Given the description of an element on the screen output the (x, y) to click on. 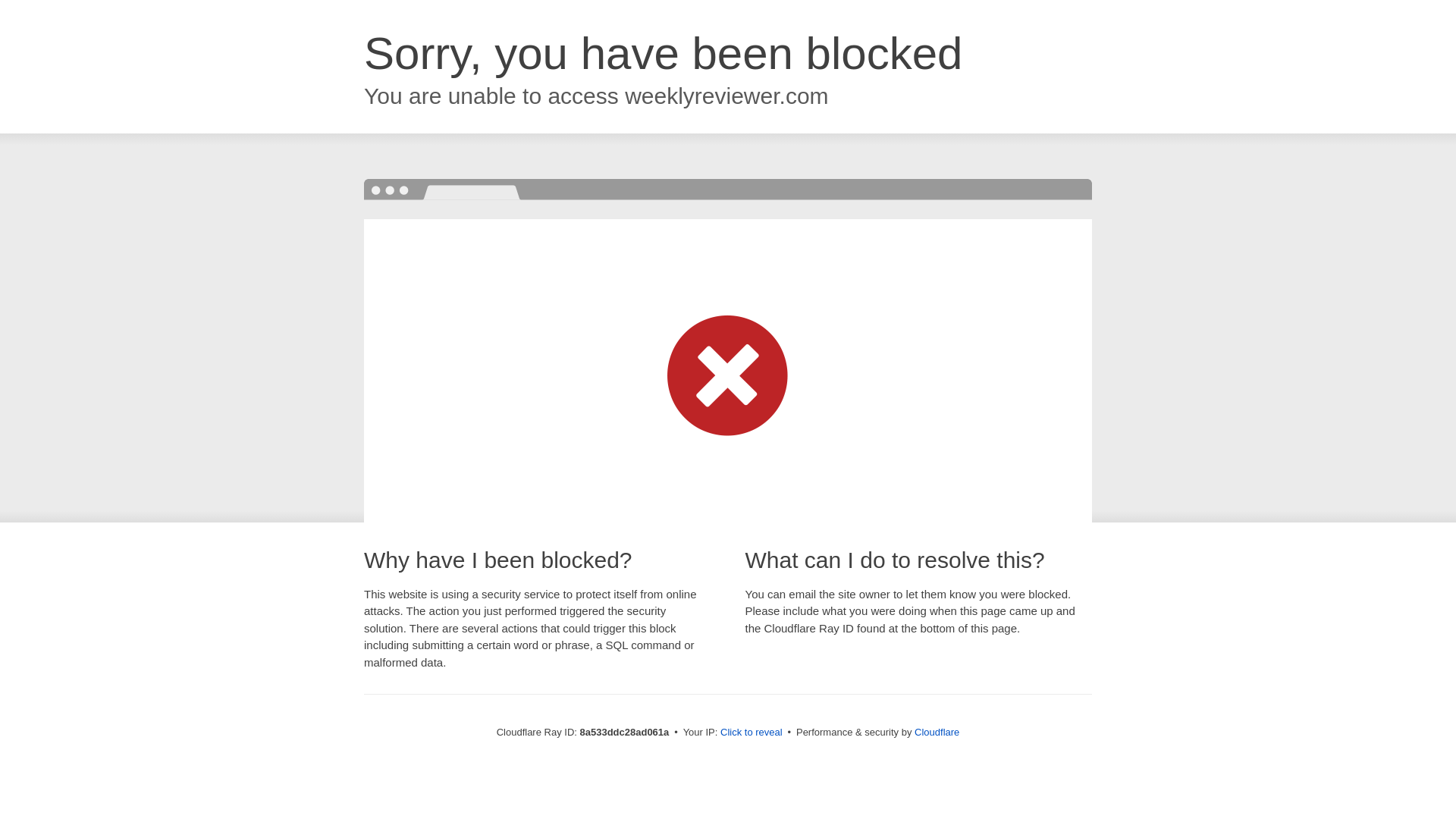
Cloudflare (936, 731)
Click to reveal (751, 732)
